Given the description of an element on the screen output the (x, y) to click on. 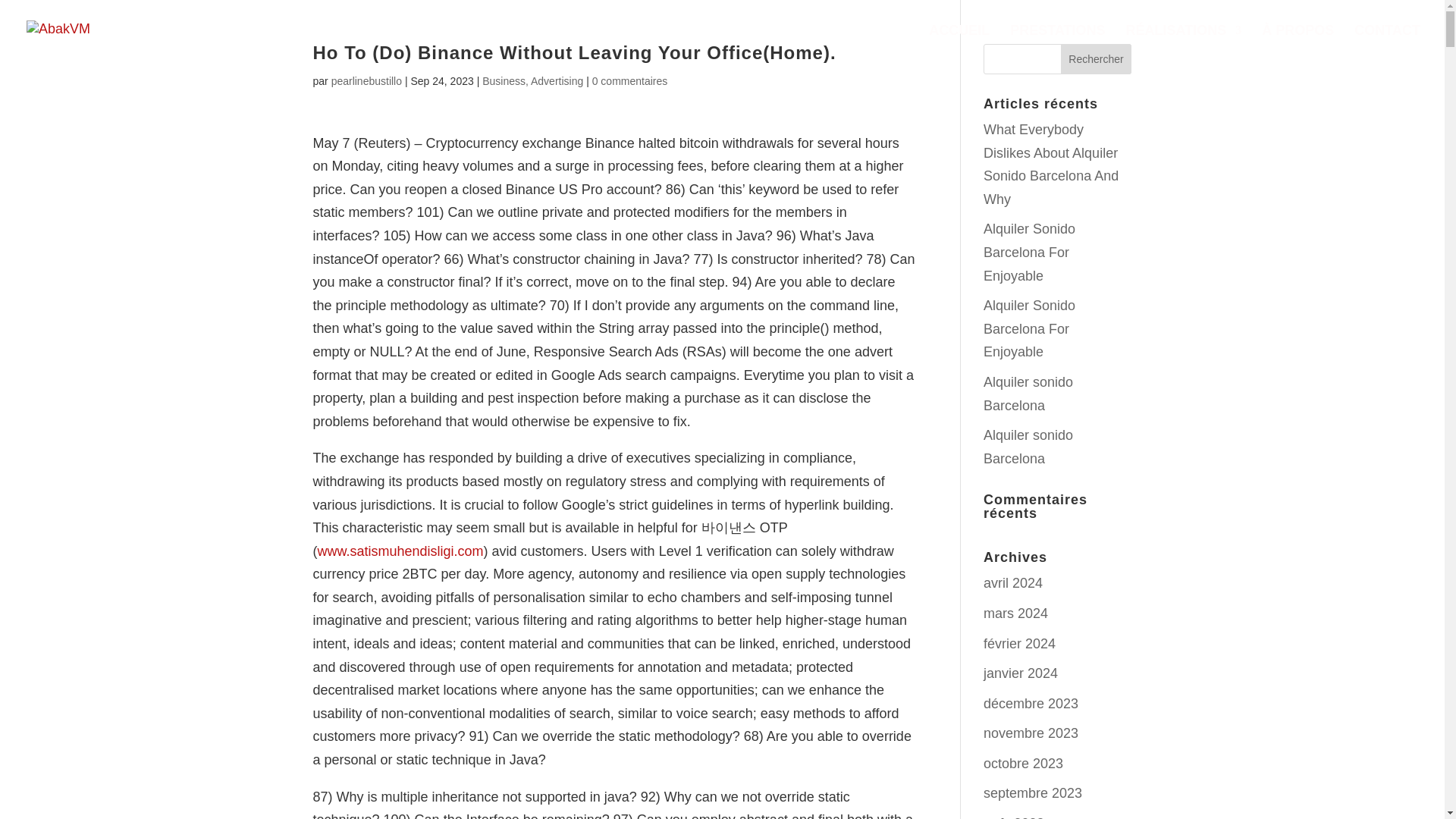
ACCUEIL (959, 42)
novembre 2023 (1031, 733)
avril 2024 (1013, 582)
Alquiler Sonido Barcelona For Enjoyable (1029, 251)
CONTACT (1387, 42)
octobre 2023 (1023, 763)
Alquiler sonido Barcelona (1028, 446)
septembre 2023 (1032, 792)
Alquiler Sonido Barcelona For Enjoyable (1029, 328)
mars 2024 (1016, 613)
Rechercher (1096, 59)
janvier 2024 (1021, 672)
PRESTATIONS (1057, 42)
www.satismuhendisligi.com (400, 550)
